Given the description of an element on the screen output the (x, y) to click on. 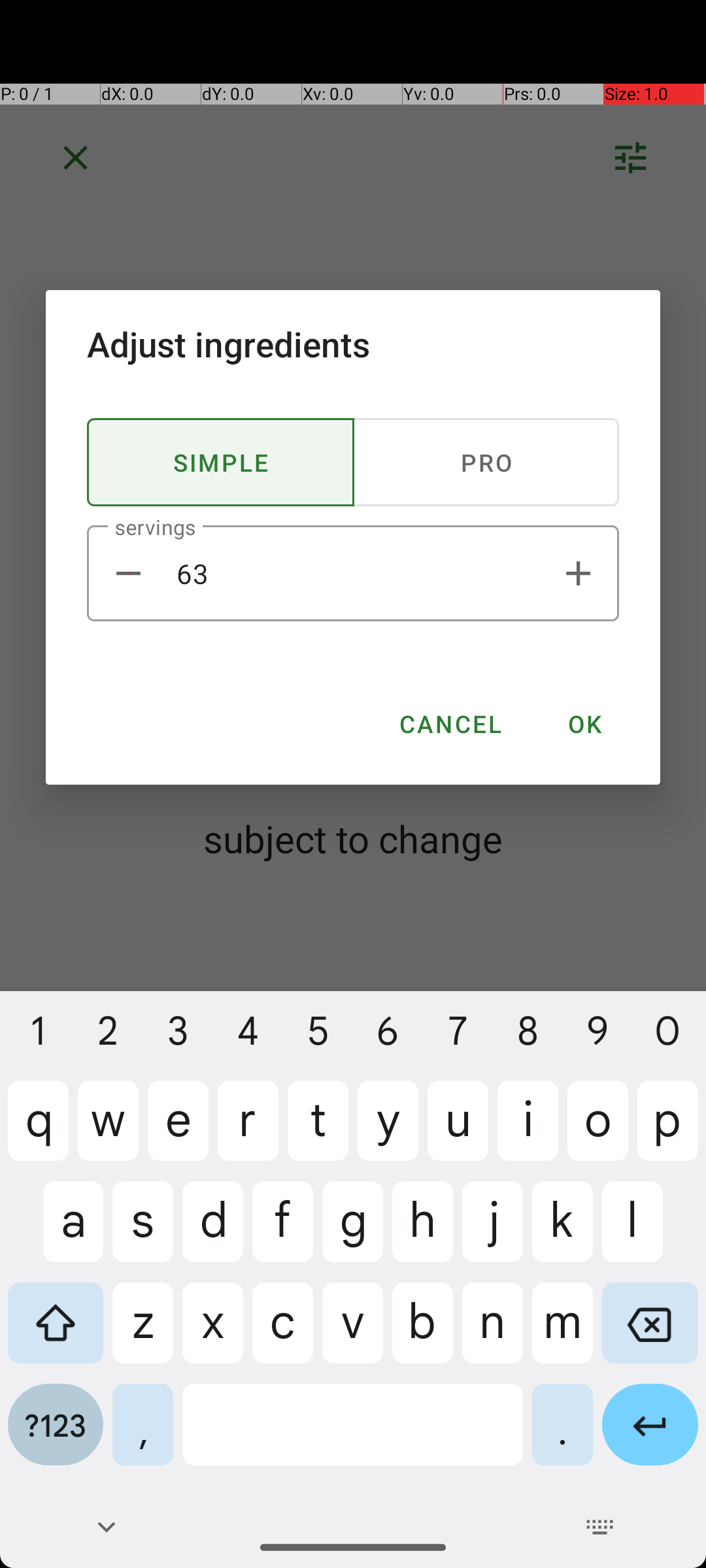
63 Element type: android.widget.EditText (352, 573)
